Given the description of an element on the screen output the (x, y) to click on. 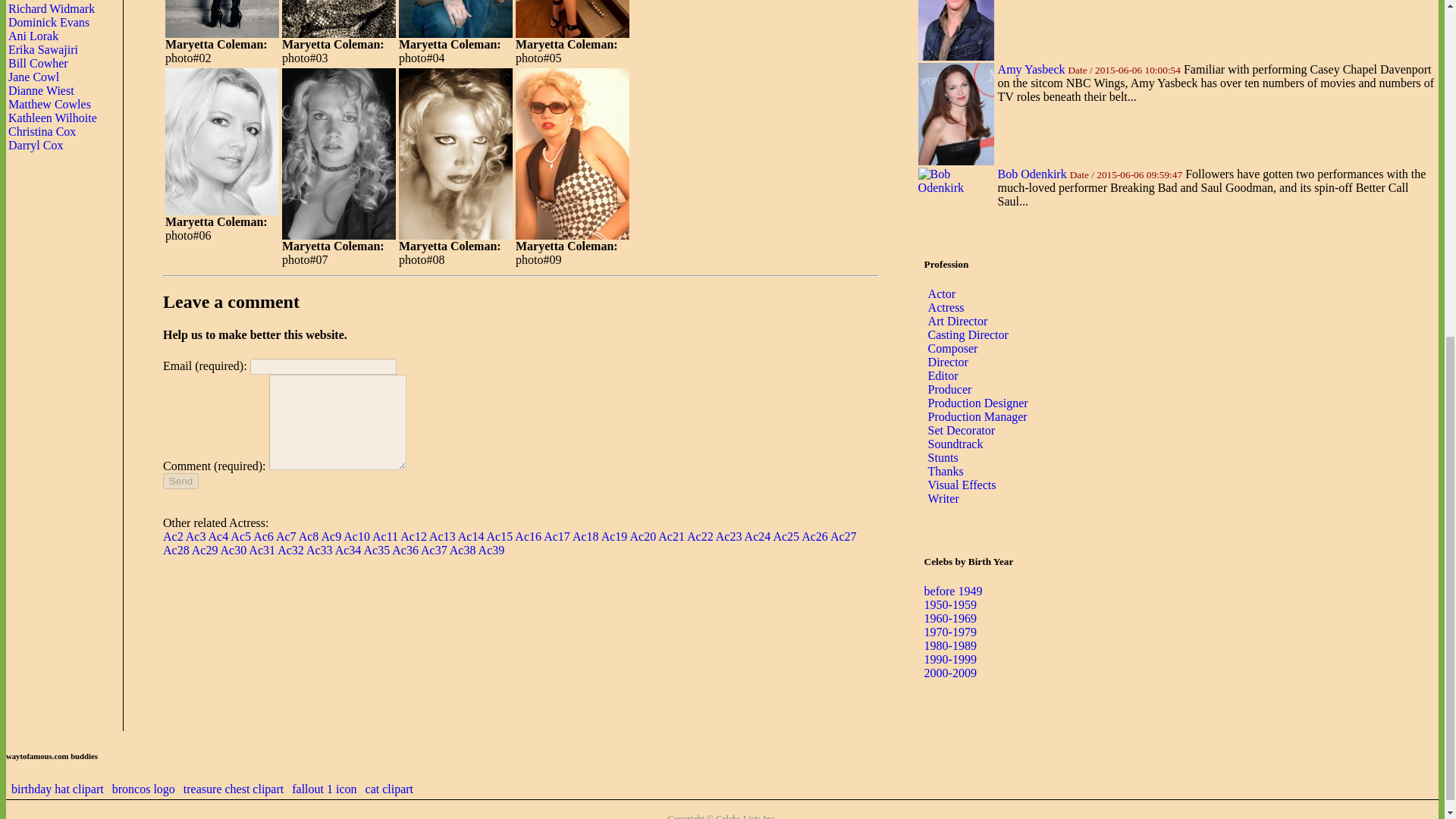
Send (180, 480)
Ella Koon (33, 0)
Richard Widmark (51, 8)
Maryetta Coleman (339, 19)
Maryetta Coleman (455, 19)
Ani Lorak (33, 35)
Maryetta Coleman (222, 19)
Maryetta Coleman (571, 19)
Dominick Evans (48, 21)
